Given the description of an element on the screen output the (x, y) to click on. 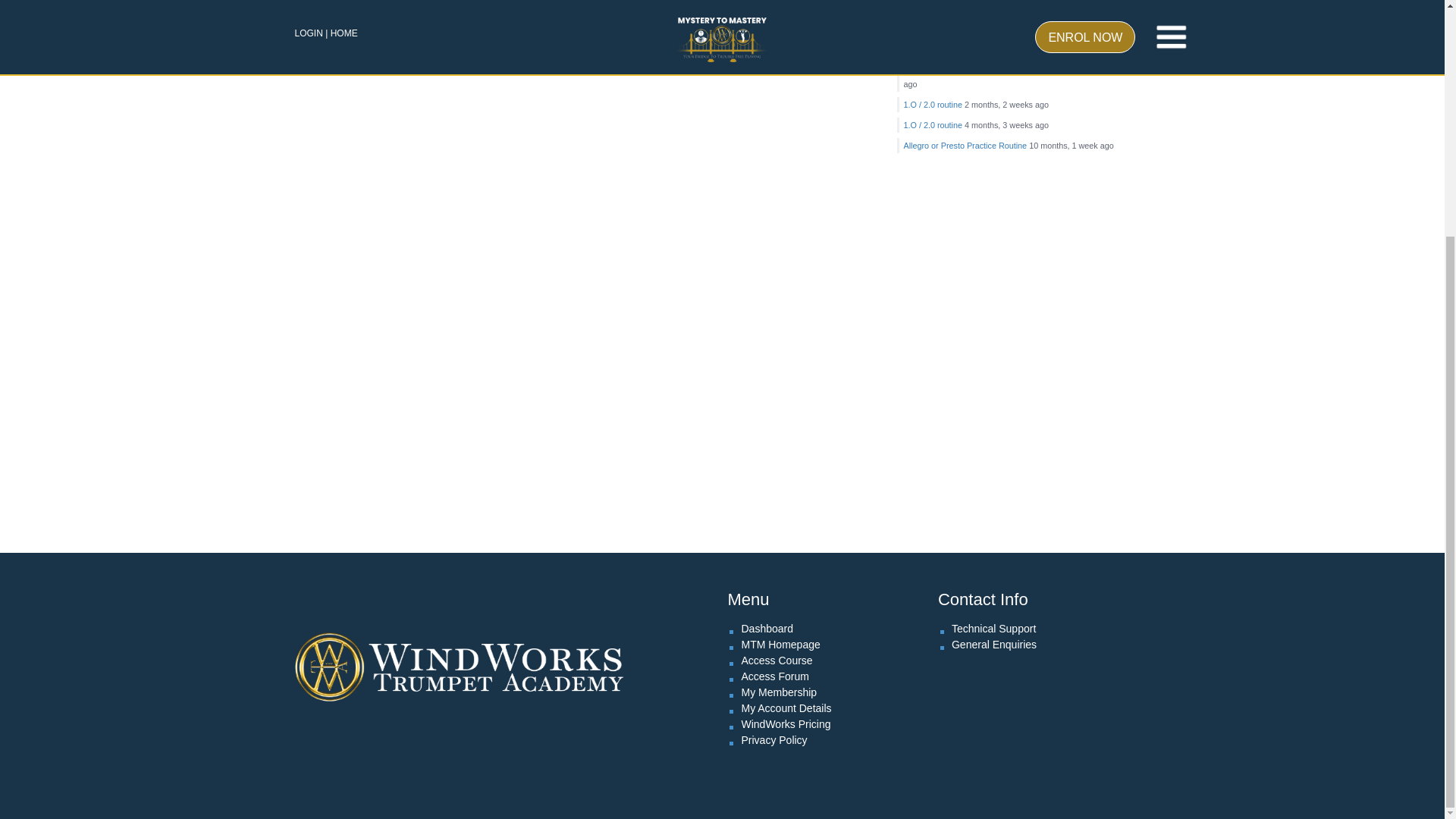
No teeth, just lips form the seal. (990, 68)
Access Course (776, 660)
My Account Details (786, 707)
Allegro or Presto Practice Routine (965, 144)
Dashboard (767, 628)
MTM Homepage (780, 644)
Access Forum (774, 676)
WindWorks Pricing (785, 724)
Thank you for the response mattroce. (990, 32)
Privacy Policy (773, 739)
My Membership (778, 692)
